Given the description of an element on the screen output the (x, y) to click on. 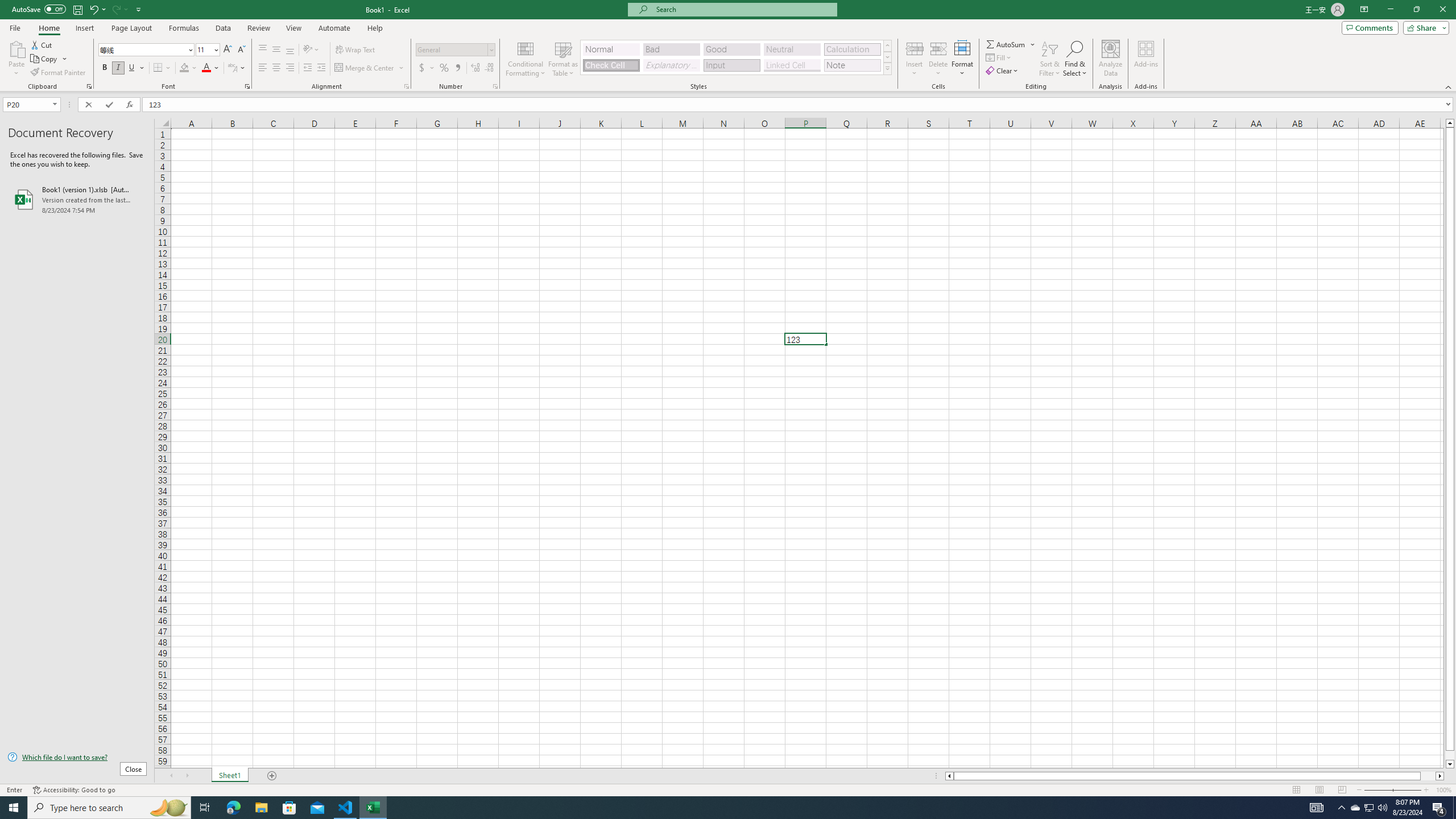
Increase Indent (320, 67)
